Given the description of an element on the screen output the (x, y) to click on. 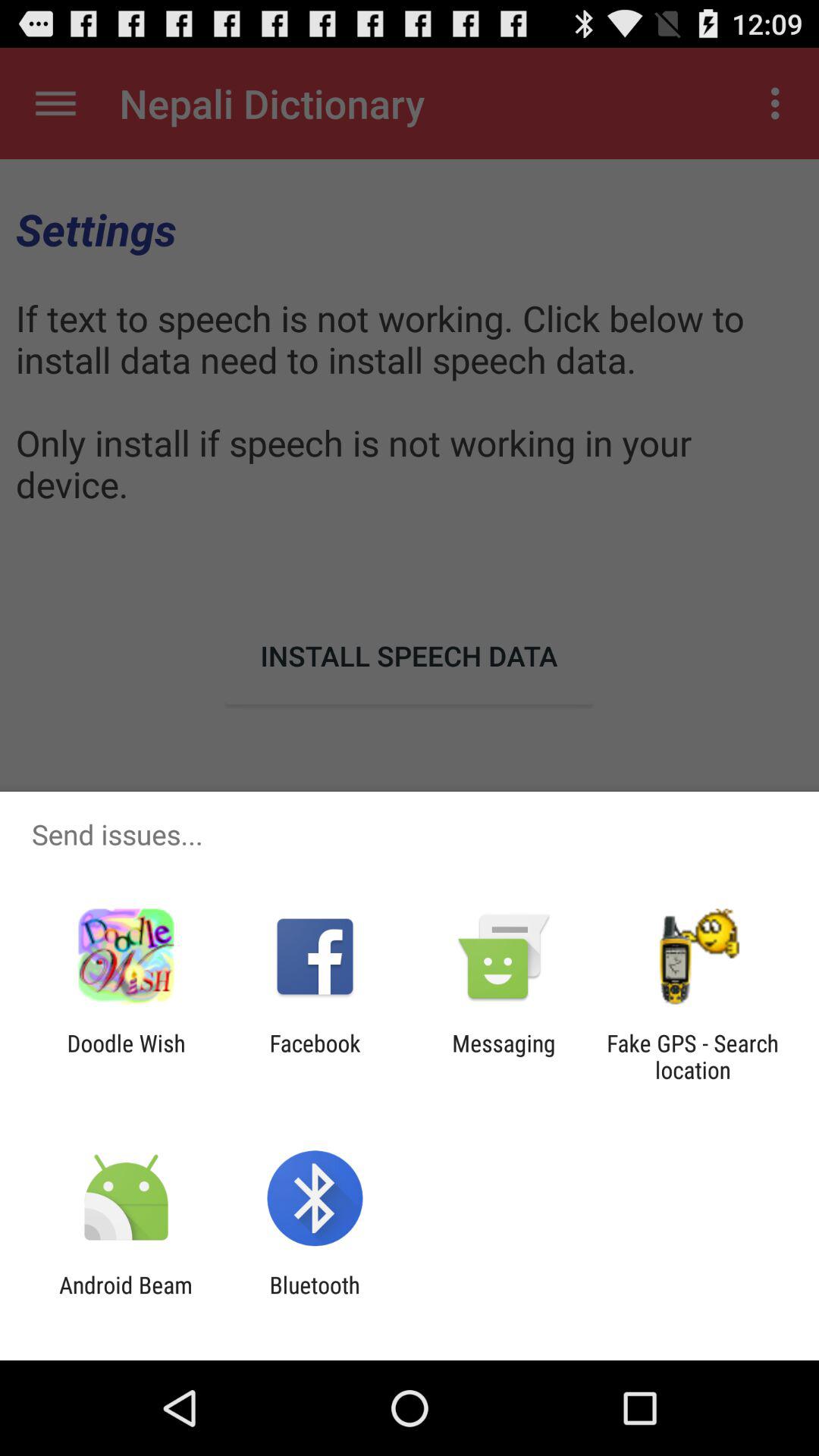
tap the android beam (125, 1298)
